Given the description of an element on the screen output the (x, y) to click on. 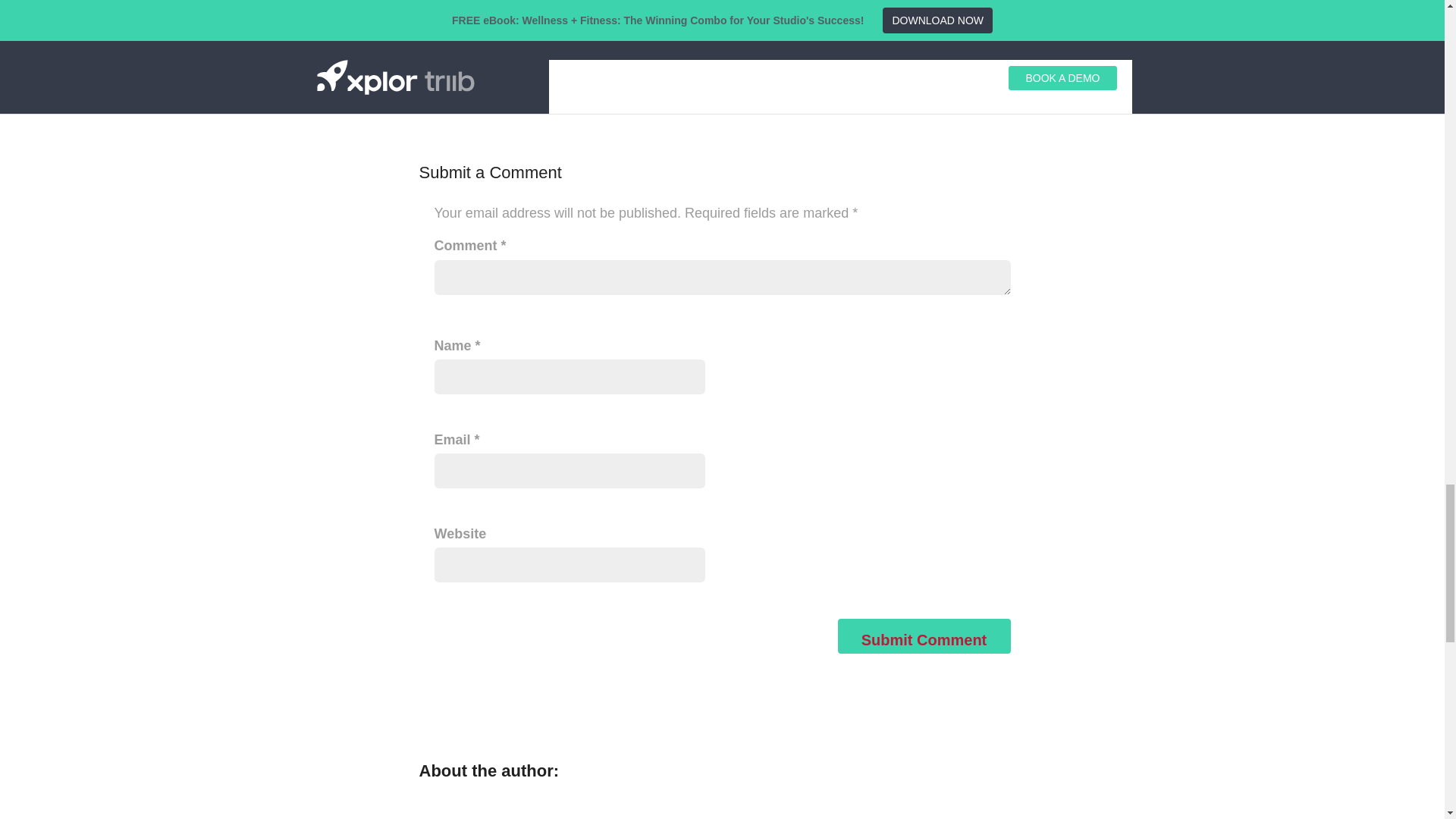
Submit Comment (923, 636)
unified platform (698, 0)
Submit Comment (923, 636)
